Given the description of an element on the screen output the (x, y) to click on. 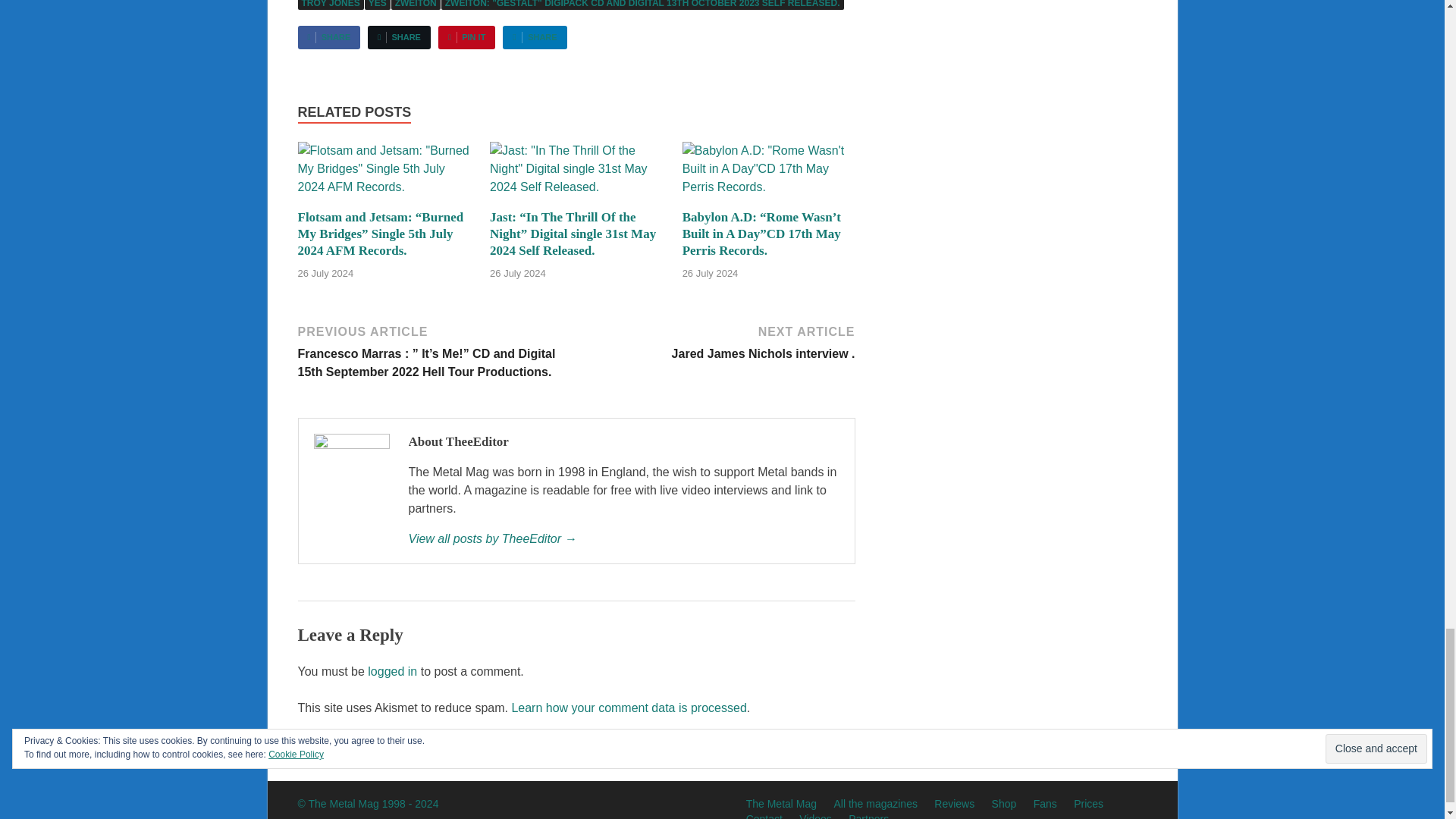
TheeEditor (622, 538)
